Given the description of an element on the screen output the (x, y) to click on. 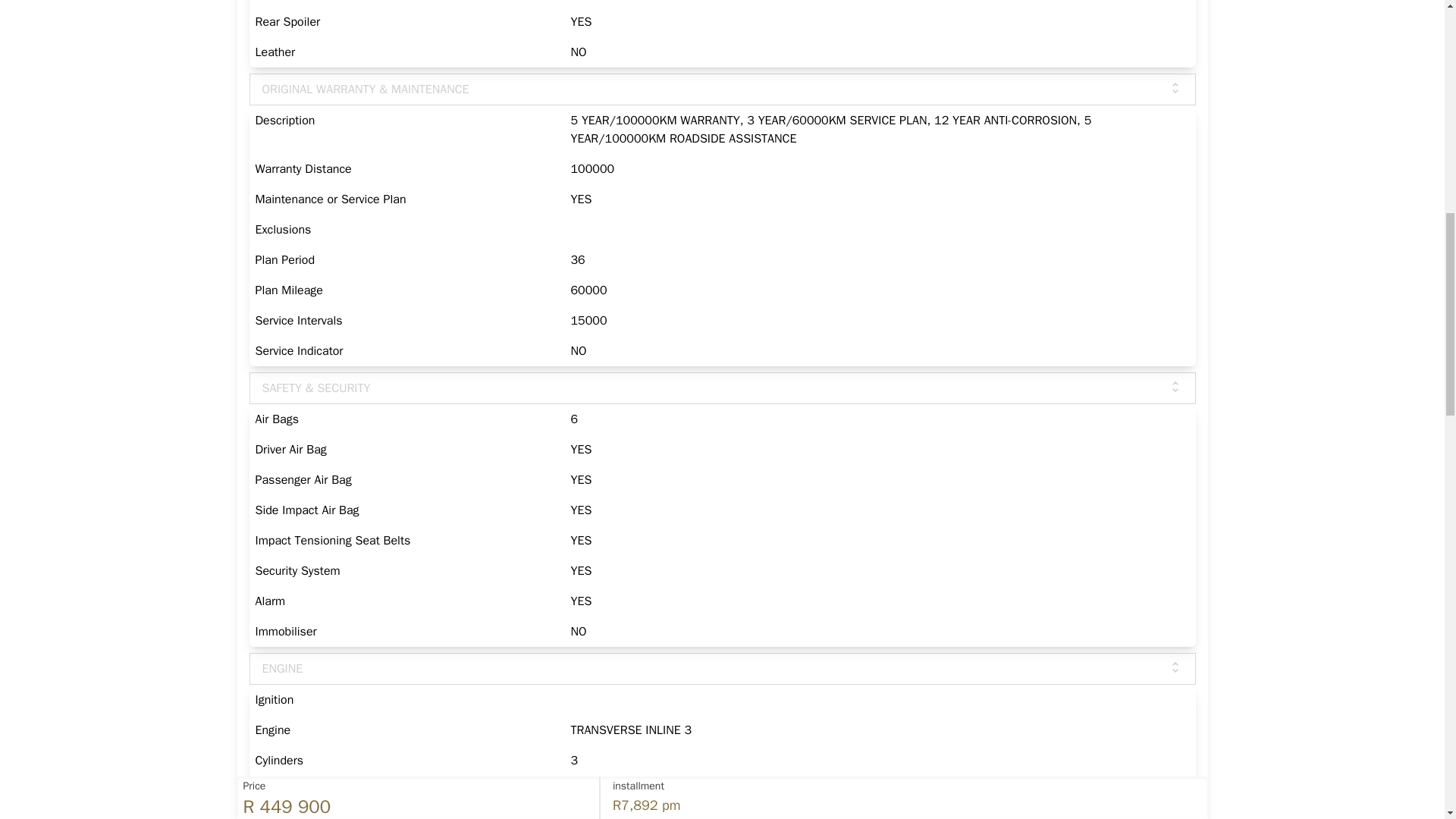
ENGINE (721, 668)
